Given the description of an element on the screen output the (x, y) to click on. 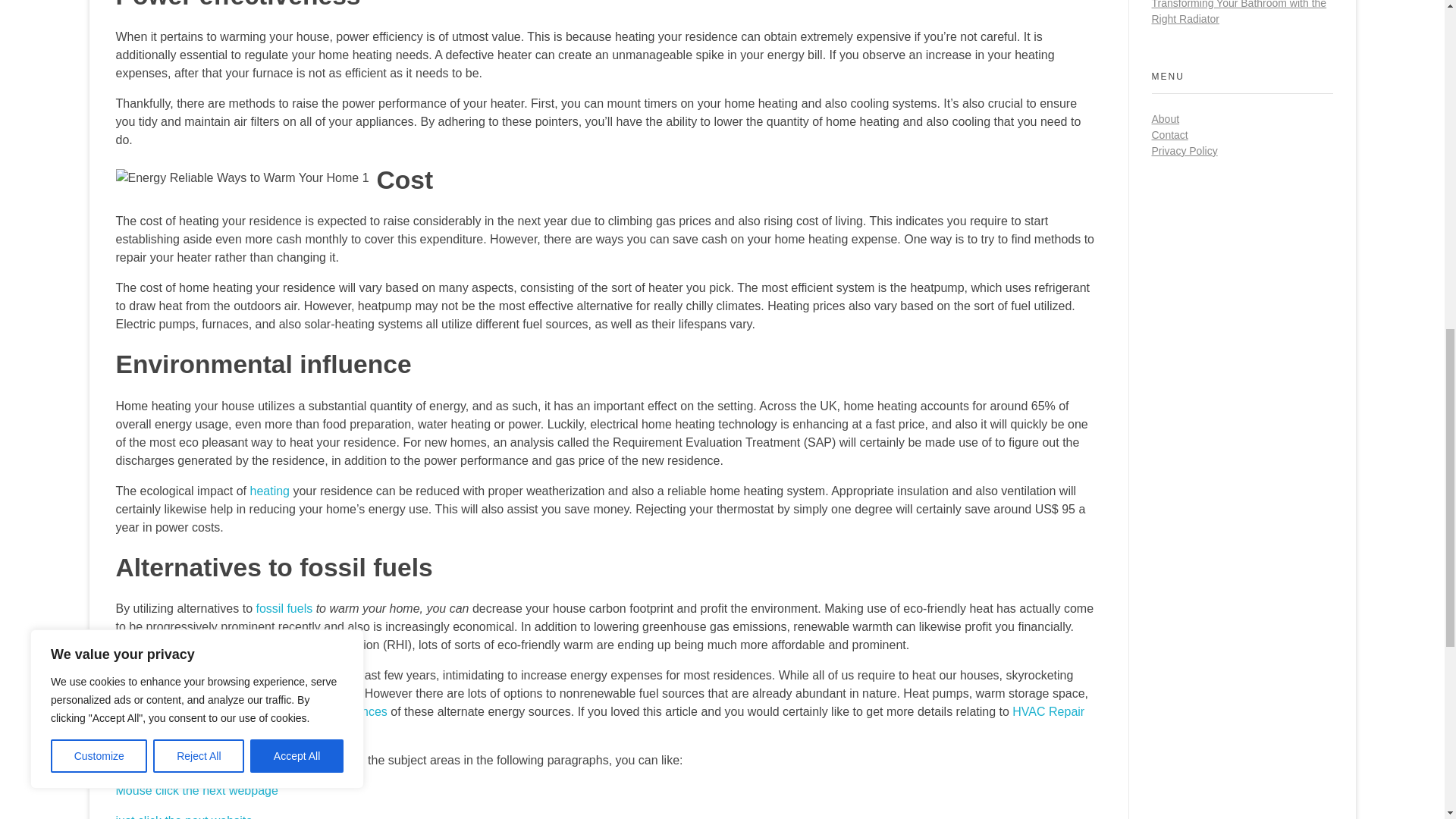
fossil fuels (284, 608)
just click the next website (183, 816)
instances (361, 711)
heating (268, 490)
HVAC Repair Chicago (599, 720)
Mouse click the next webpage (196, 789)
